Given the description of an element on the screen output the (x, y) to click on. 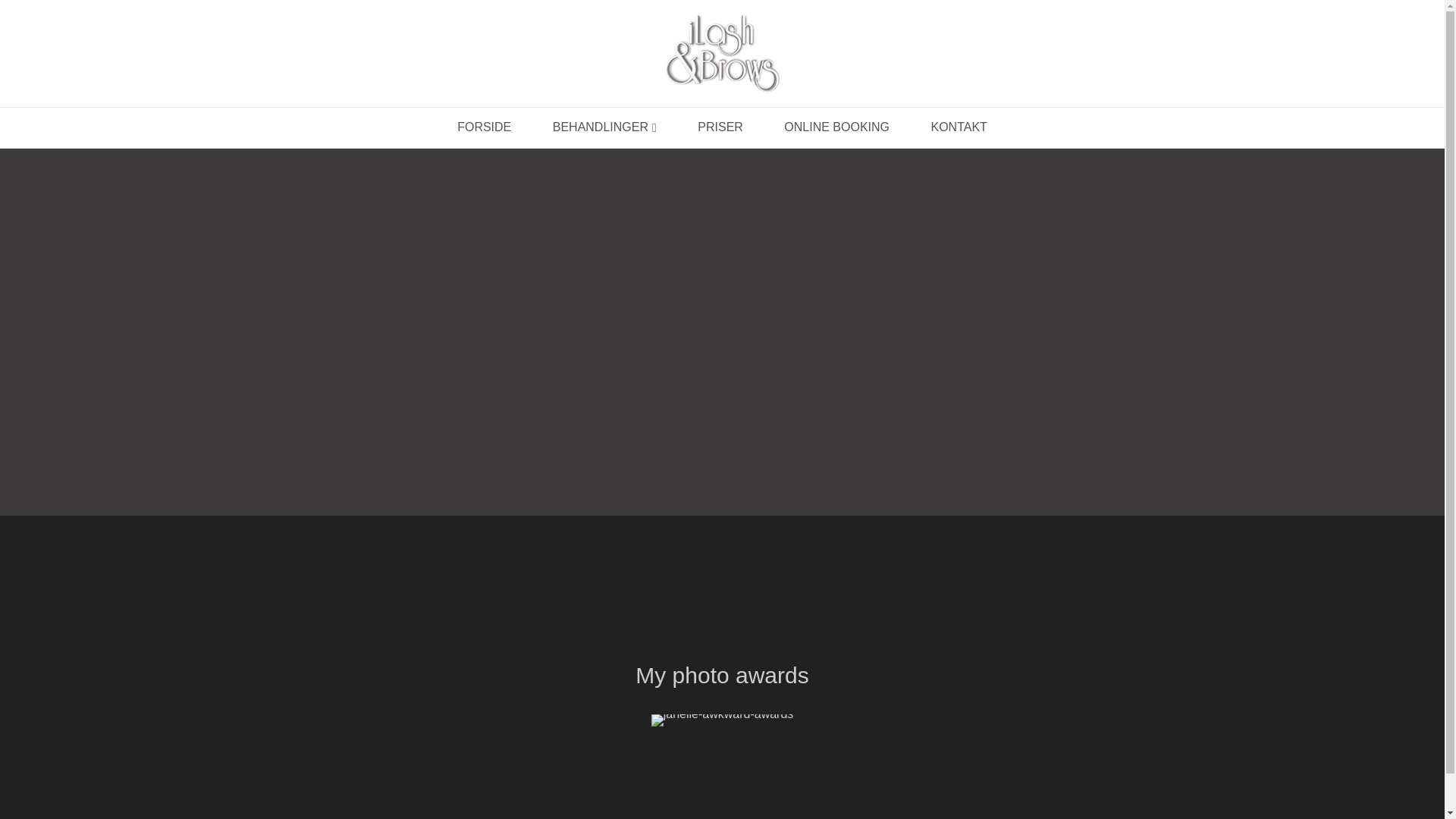
PRISER (719, 127)
ONLINE BOOKING (836, 127)
KONTAKT (958, 127)
janelle-awkward-awards (721, 720)
BEHANDLINGER (604, 127)
Instagram (722, 790)
Email (748, 790)
Facebook (695, 790)
FORSIDE (483, 127)
